Given the description of an element on the screen output the (x, y) to click on. 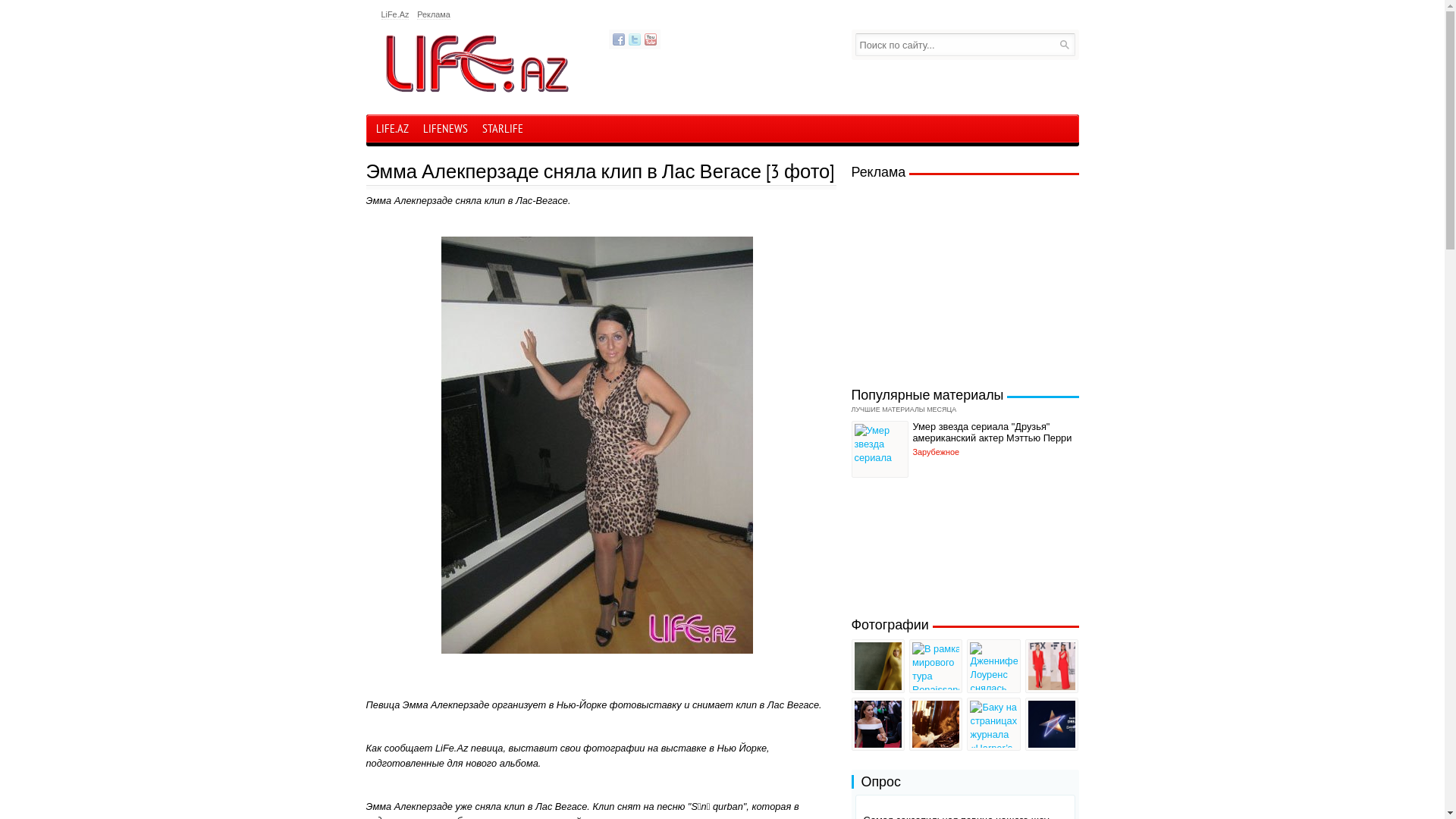
YouTube Element type: hover (650, 39)
Advertisement Element type: hover (962, 278)
Twitter Element type: hover (633, 39)
Facebook Element type: hover (618, 39)
STARLIFE Element type: text (501, 130)
LIFENEWS Element type: text (444, 130)
LIFE.AZ Element type: text (391, 128)
LiFe.Az Element type: text (394, 14)
